Given the description of an element on the screen output the (x, y) to click on. 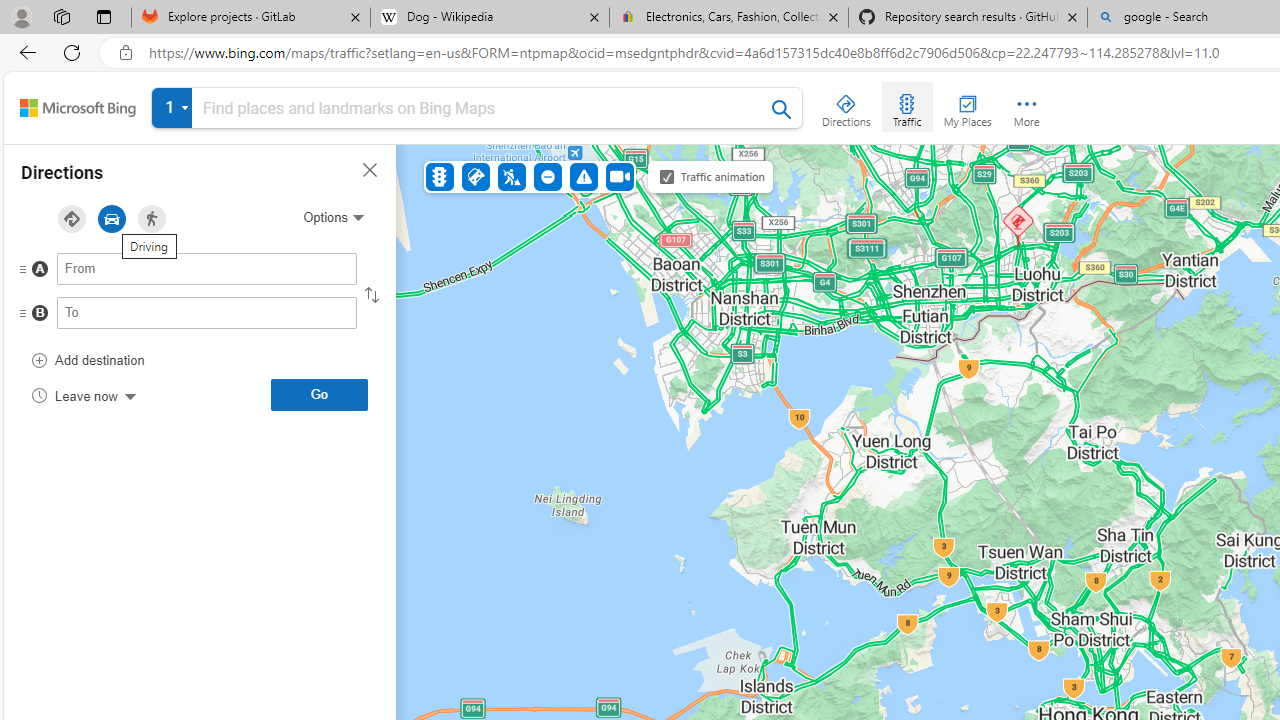
Recommended (71, 219)
Add a search (482, 107)
Back to Bing search (77, 107)
Drag to reorder (38, 313)
Walking (152, 219)
Directions (846, 106)
Reverse (371, 295)
Options (333, 217)
Go (319, 394)
Cameras (619, 176)
Accidents (476, 176)
A (167, 274)
My Places (967, 106)
